Given the description of an element on the screen output the (x, y) to click on. 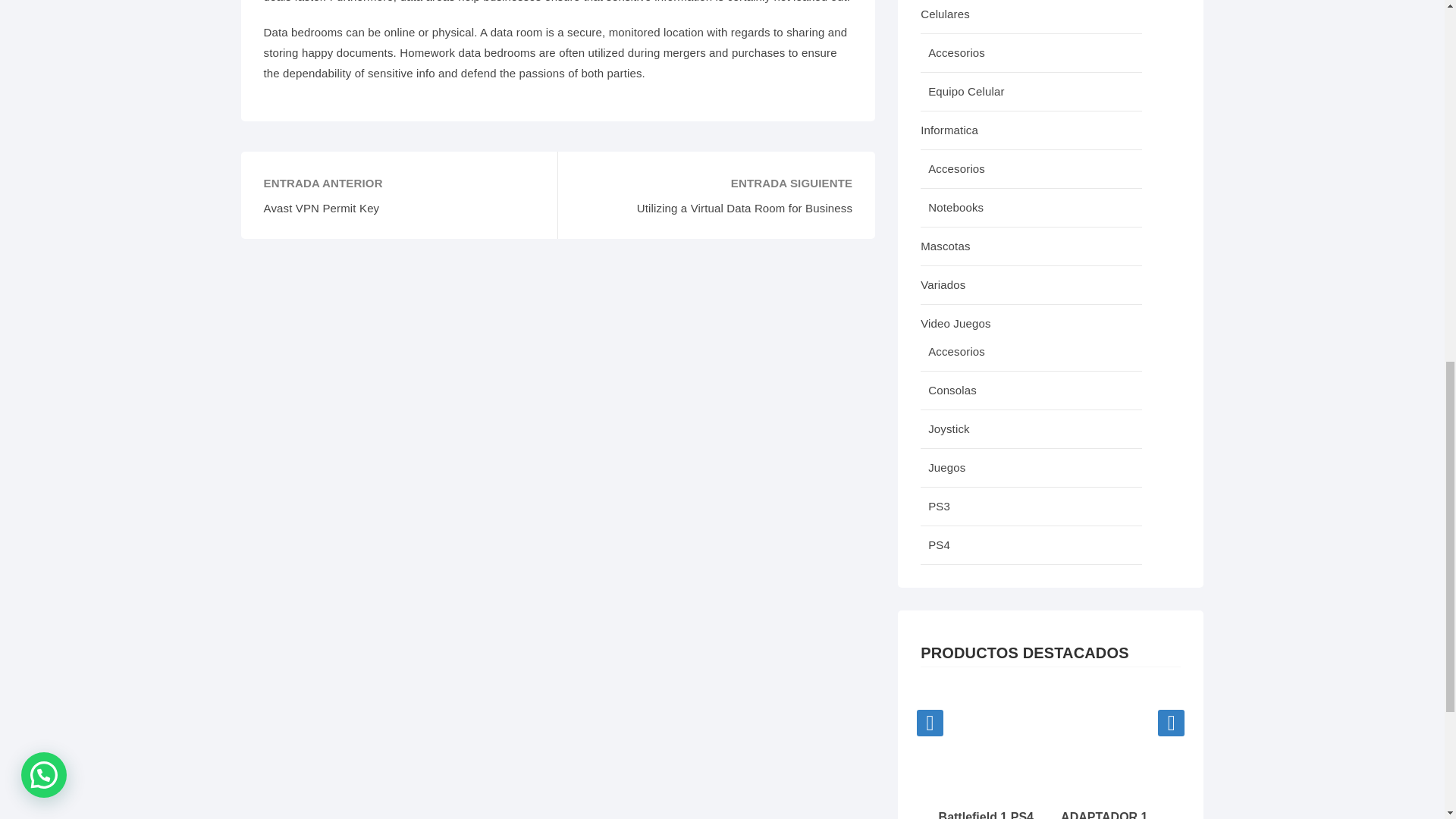
Informatica (1030, 130)
Accesorios (1030, 169)
Utilizing a Virtual Data Room for Business (715, 207)
Notebooks (1030, 208)
Celulares (1030, 17)
PS3 (1030, 506)
Accesorios (1030, 53)
Video Juegos (1030, 318)
PS4 (1030, 545)
Consolas (1030, 390)
